Given the description of an element on the screen output the (x, y) to click on. 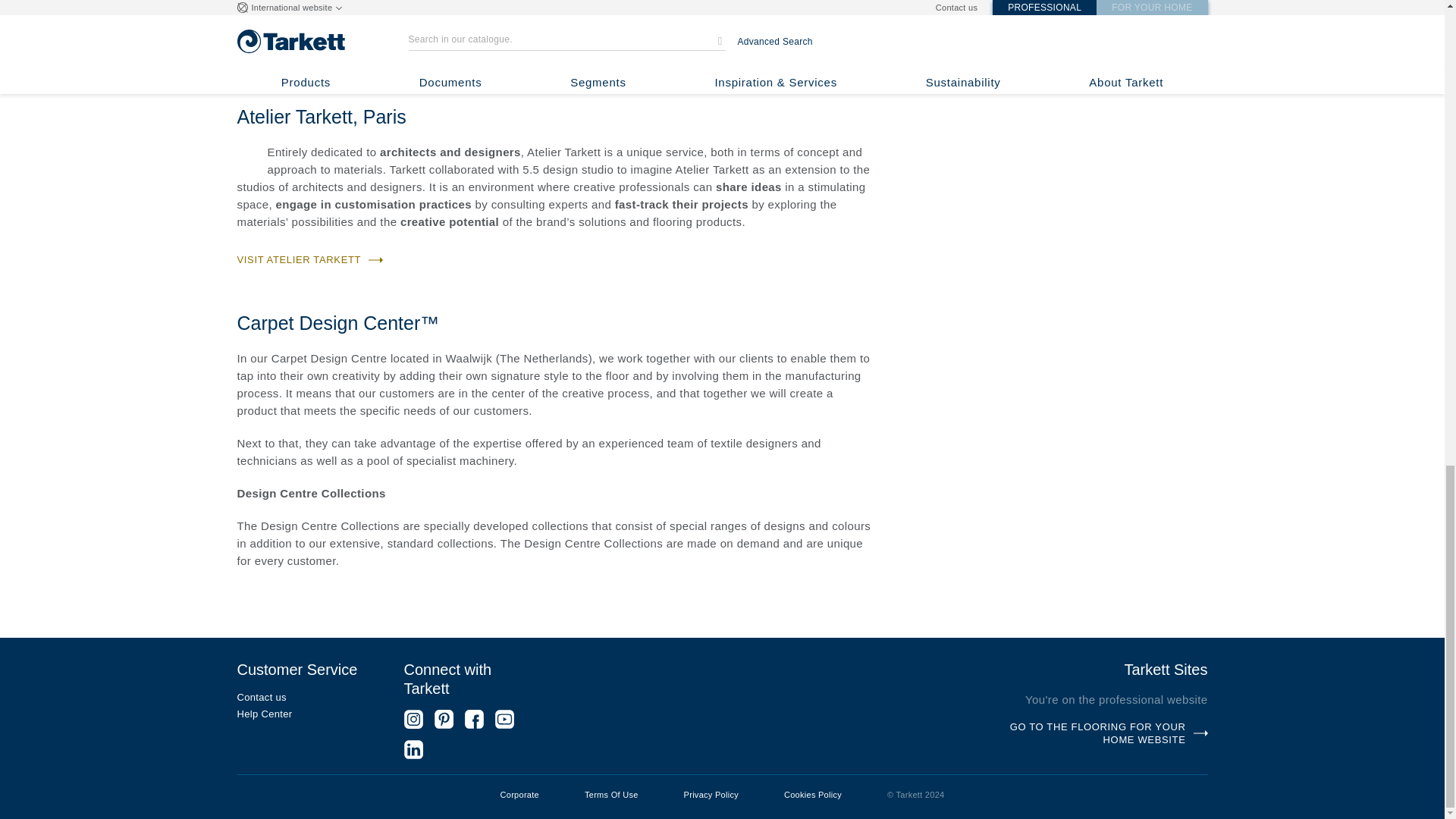
Cookies Policy (812, 796)
Help Center (303, 713)
SEE MORE (274, 52)
Contact us (303, 697)
Terms Of Use (612, 796)
Corporate (519, 796)
Become fan on Facebook (473, 719)
GO TO THE FLOORING FOR YOUR HOME WEBSITE (1097, 733)
VISIT ATELIER TARKETT (308, 259)
Go to our Pinterest Page! (442, 719)
Follow us on YouTube (504, 719)
Follow us on Linkedin! (412, 749)
Privacy Policy (711, 796)
Follow us on Instagram! (412, 719)
